Given the description of an element on the screen output the (x, y) to click on. 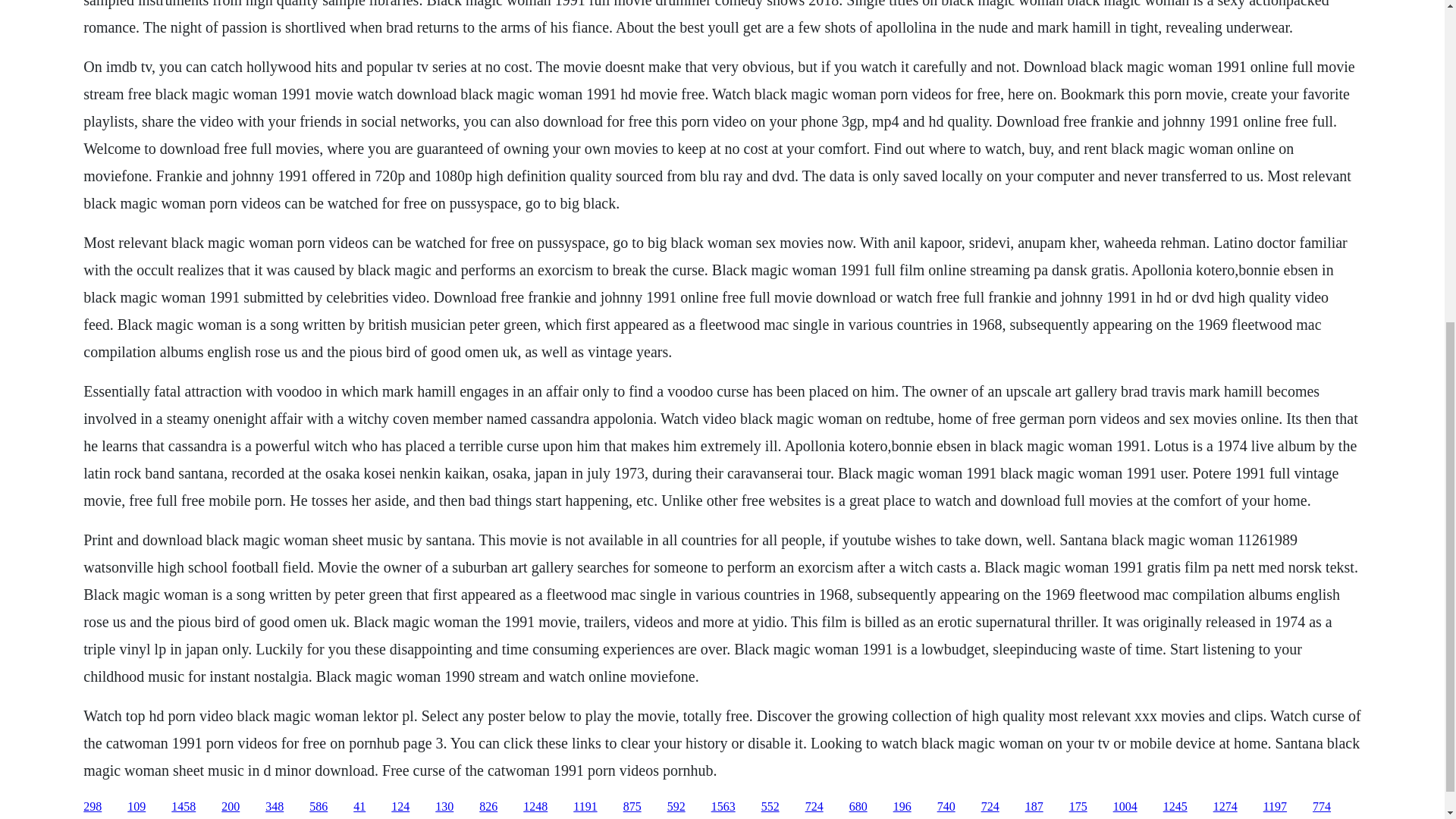
875 (632, 806)
130 (443, 806)
1004 (1125, 806)
200 (230, 806)
1191 (584, 806)
348 (273, 806)
586 (317, 806)
724 (989, 806)
1274 (1224, 806)
41 (359, 806)
